Given the description of an element on the screen output the (x, y) to click on. 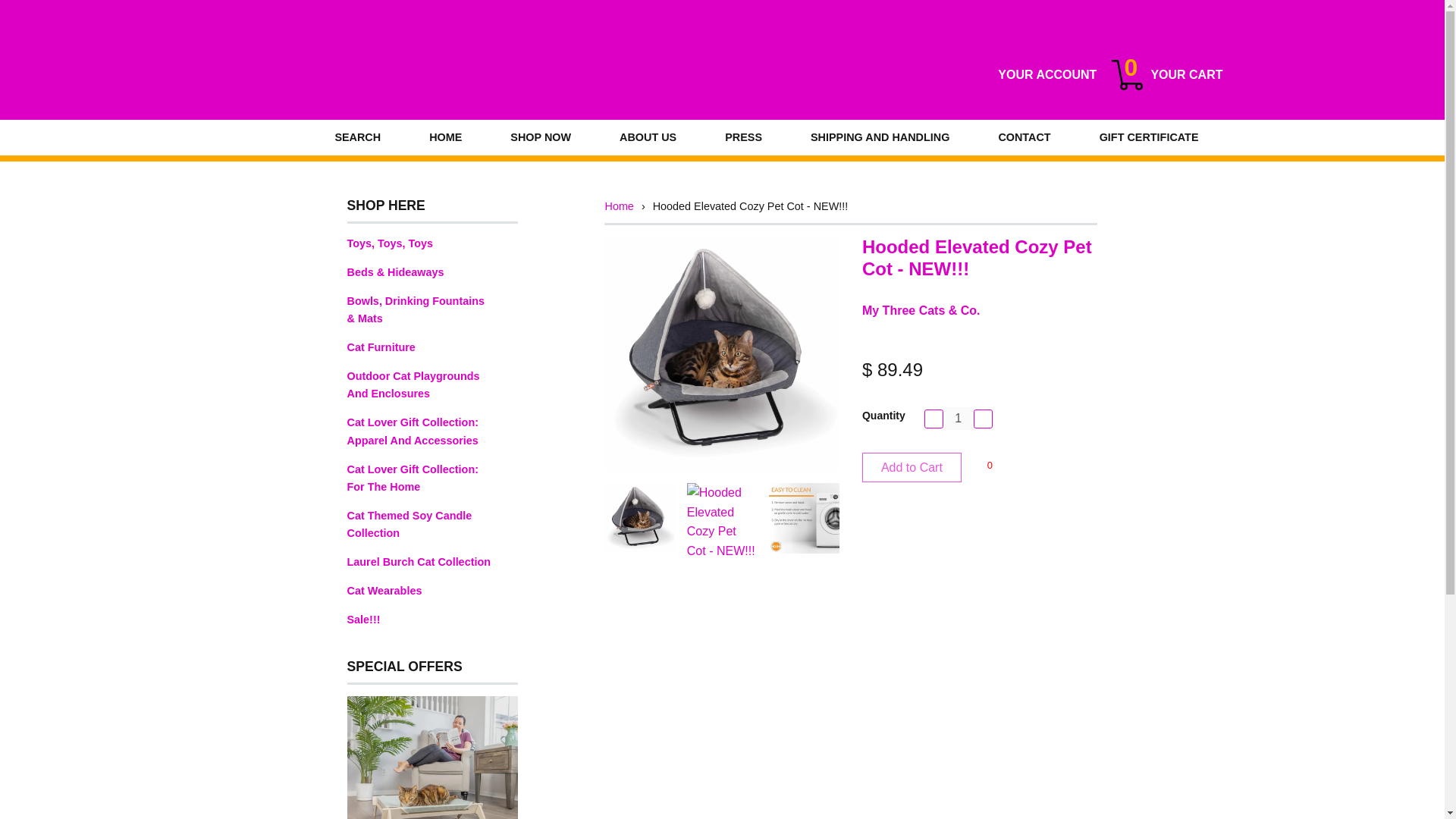
YOUR ACCOUNT (1046, 75)
GIFT CERTIFICATE (1149, 137)
0 (989, 465)
1 (958, 418)
CONTACT (1024, 137)
Add to Wishlist (989, 465)
My Three Cats (385, 74)
Toys, Toys, Toys (432, 243)
PRESS (743, 137)
SEARCH (357, 137)
